Given the description of an element on the screen output the (x, y) to click on. 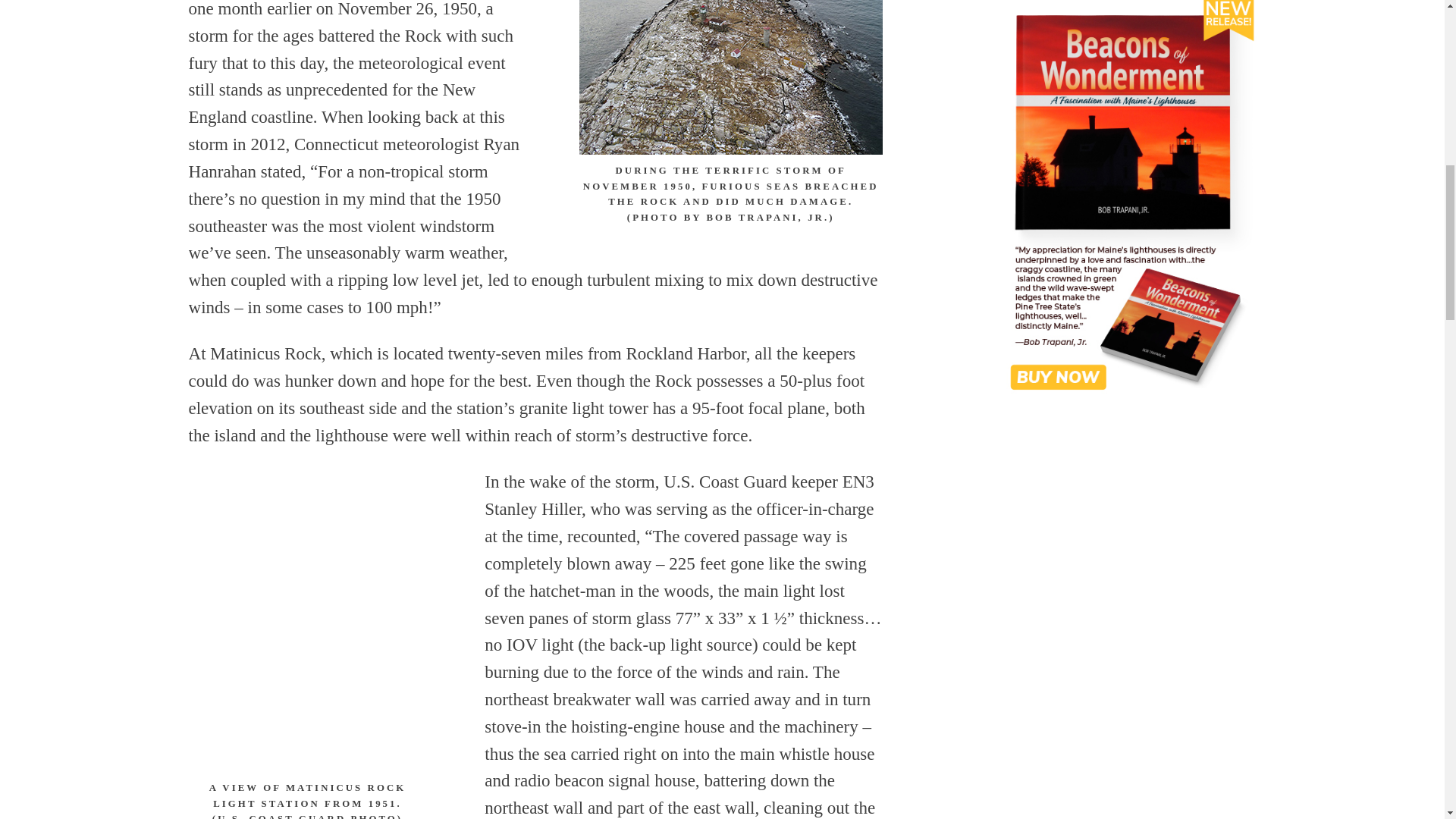
In our Store! (1121, 199)
